Given the description of an element on the screen output the (x, y) to click on. 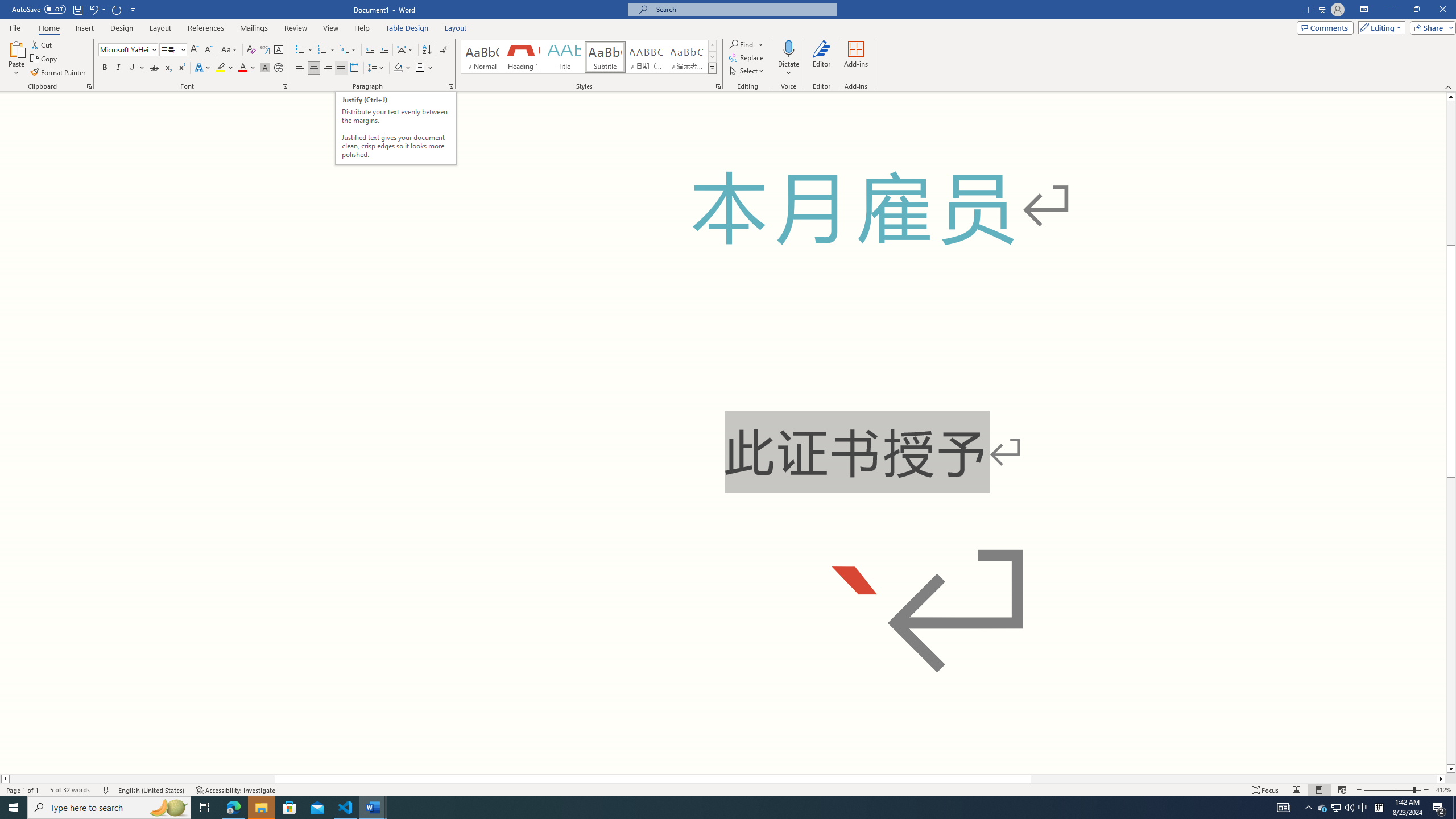
Cut (42, 44)
Clear Formatting (250, 49)
Justify (340, 67)
Strikethrough (154, 67)
Font Color Red (241, 67)
Decrease Indent (370, 49)
Column right (1441, 778)
Phonetic Guide... (264, 49)
Page right (1233, 778)
Change Case (229, 49)
Zoom (1392, 790)
